Given the description of an element on the screen output the (x, y) to click on. 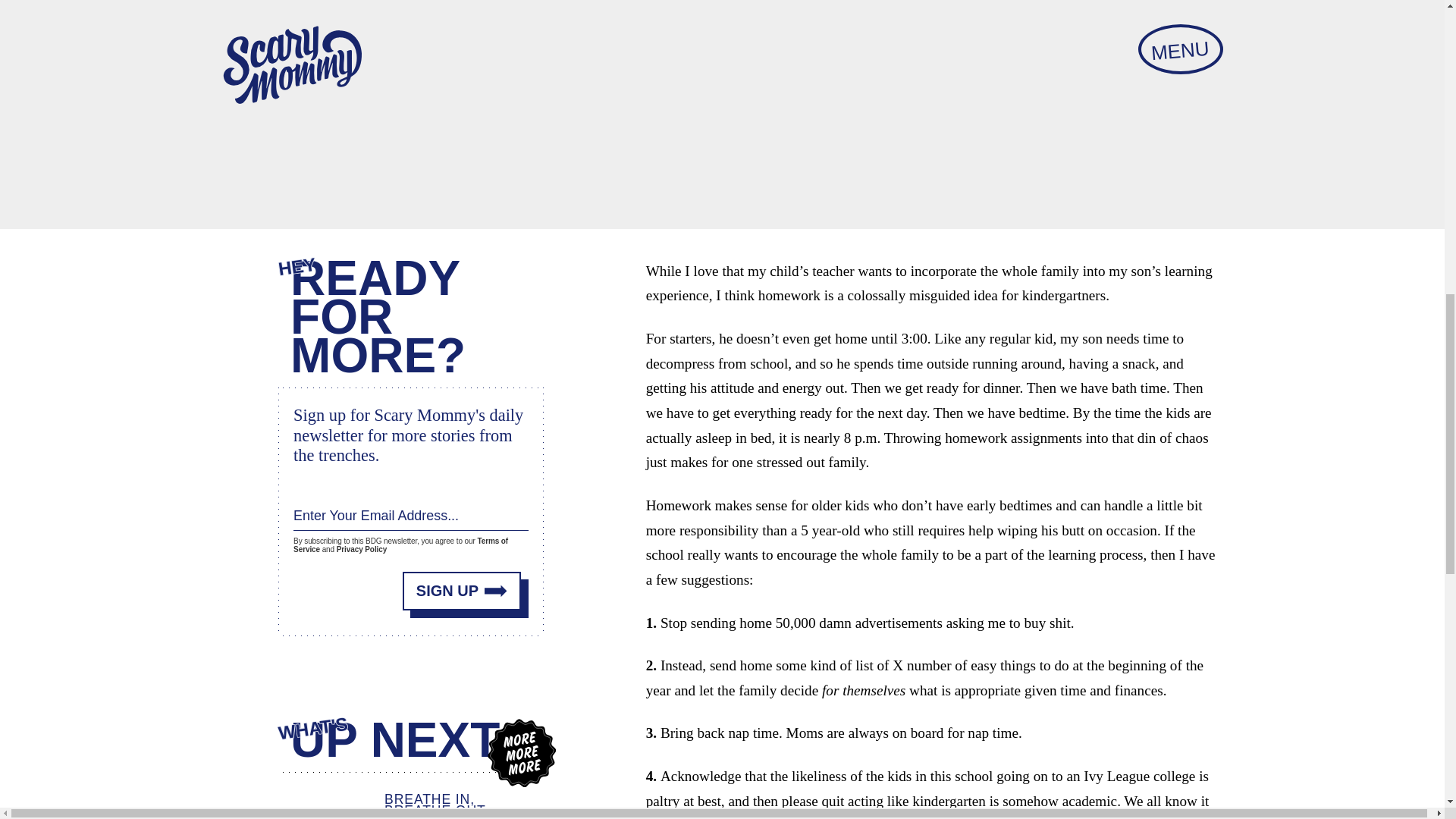
Terms of Service (401, 540)
SIGN UP (462, 584)
Privacy Policy (361, 546)
